Given the description of an element on the screen output the (x, y) to click on. 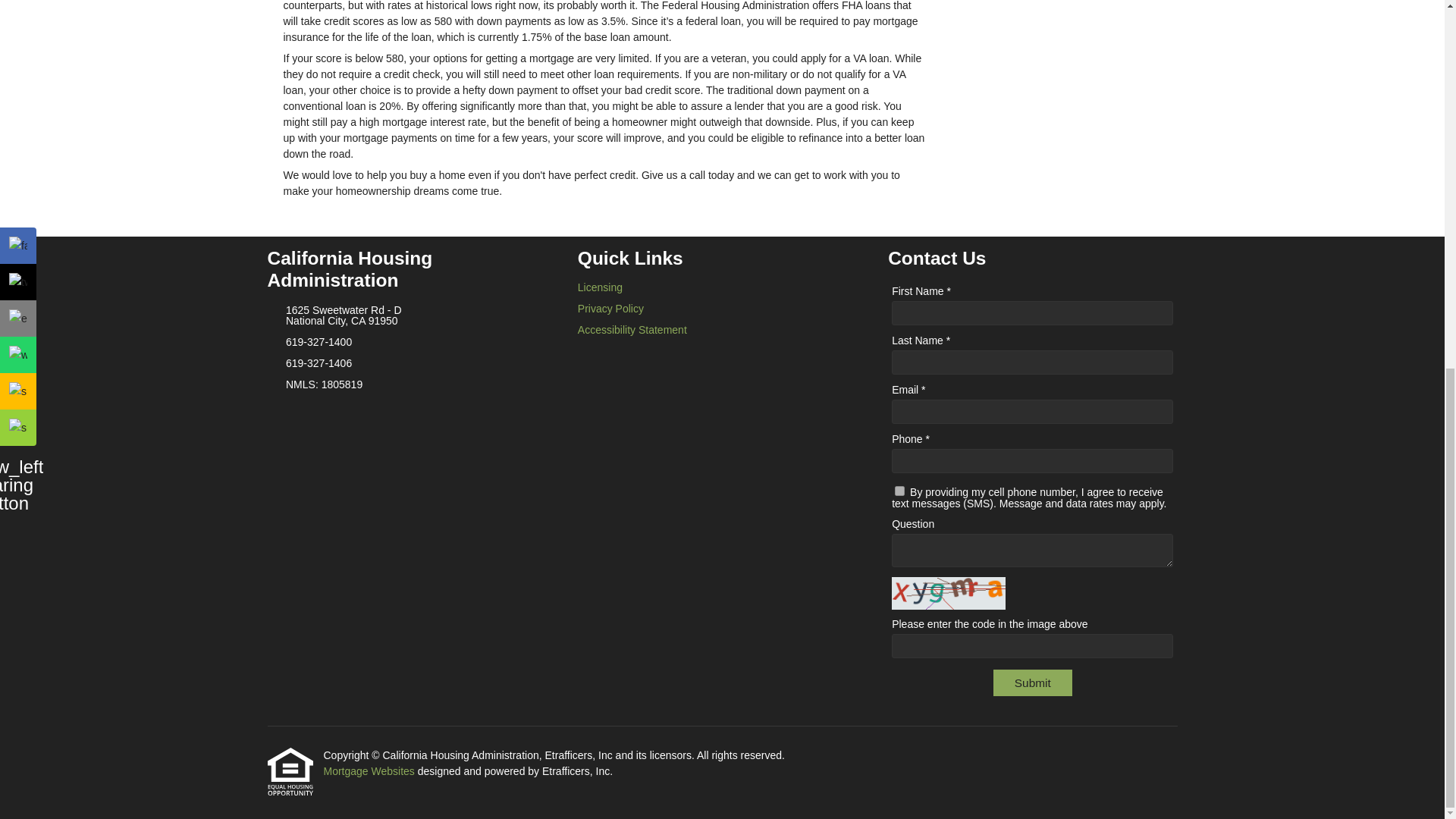
yes (899, 491)
